Given the description of an element on the screen output the (x, y) to click on. 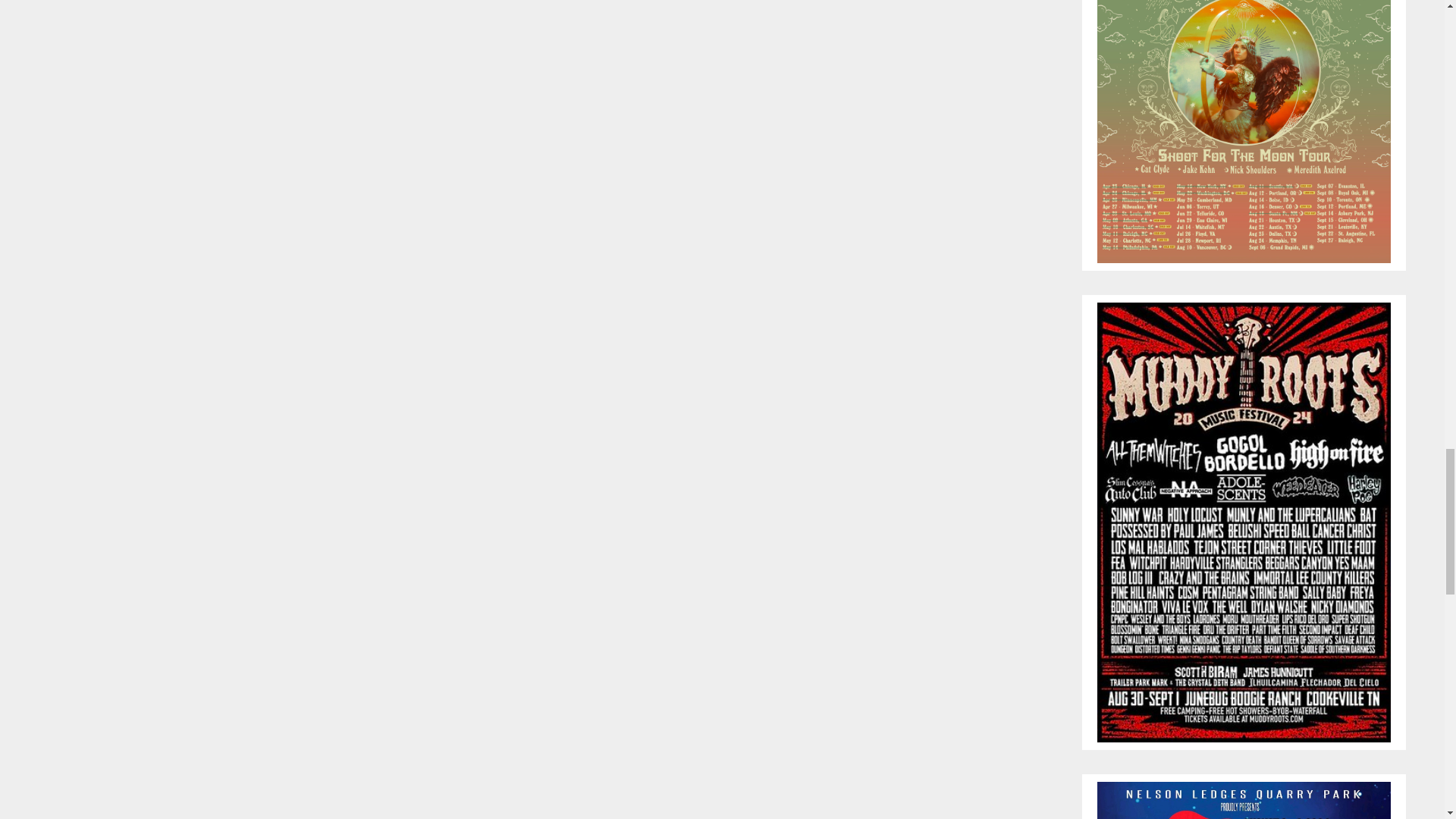
Roots (1243, 521)
Sierra (1243, 115)
